Given the description of an element on the screen output the (x, y) to click on. 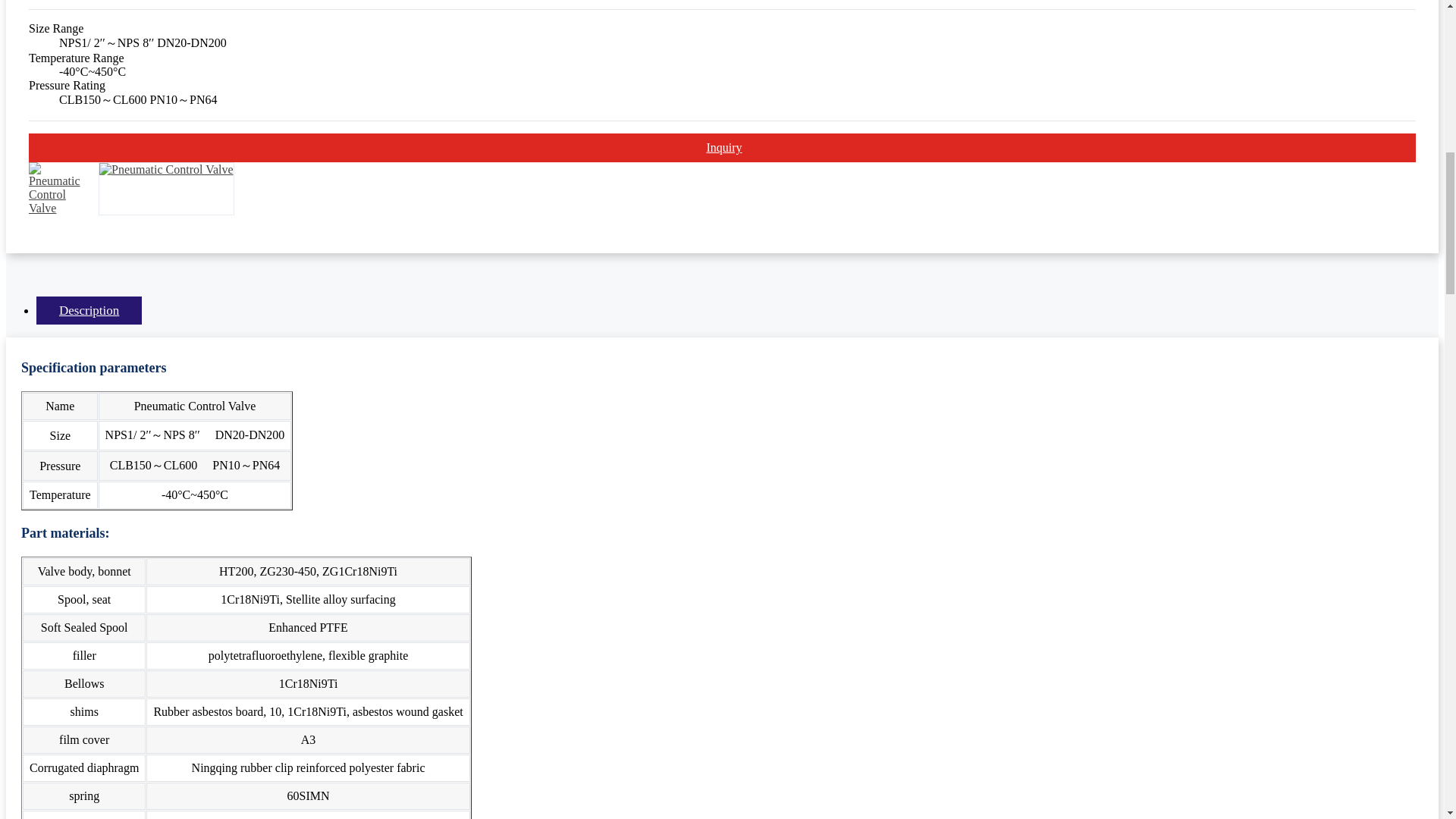
Pneumatic Control Valve (165, 169)
Inquiry (722, 147)
Description (88, 310)
